Given the description of an element on the screen output the (x, y) to click on. 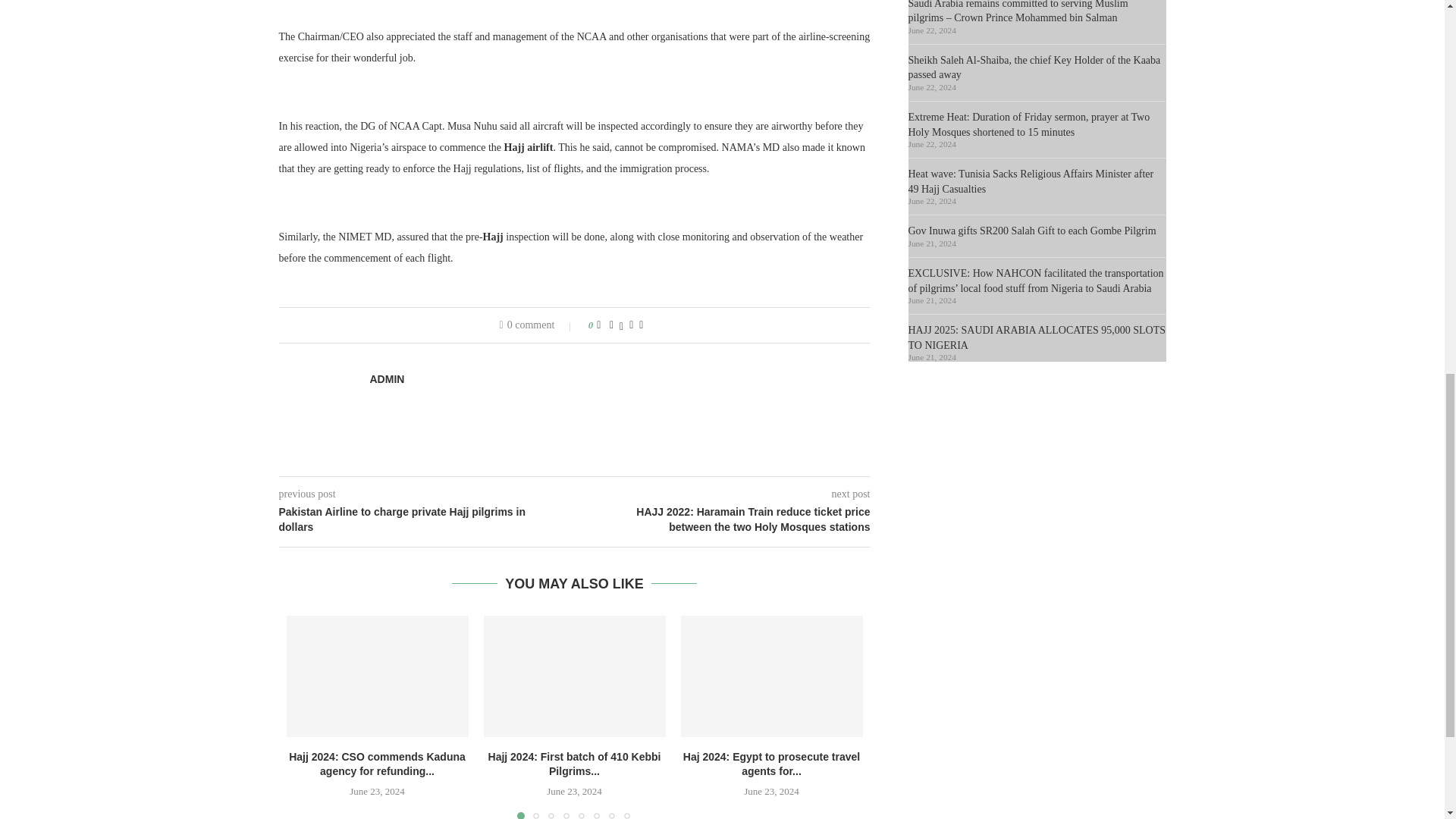
Hajj 2024: First batch of 410 Kebbi Pilgrims return home (574, 676)
Author admin (386, 379)
Like (597, 325)
